Given the description of an element on the screen output the (x, y) to click on. 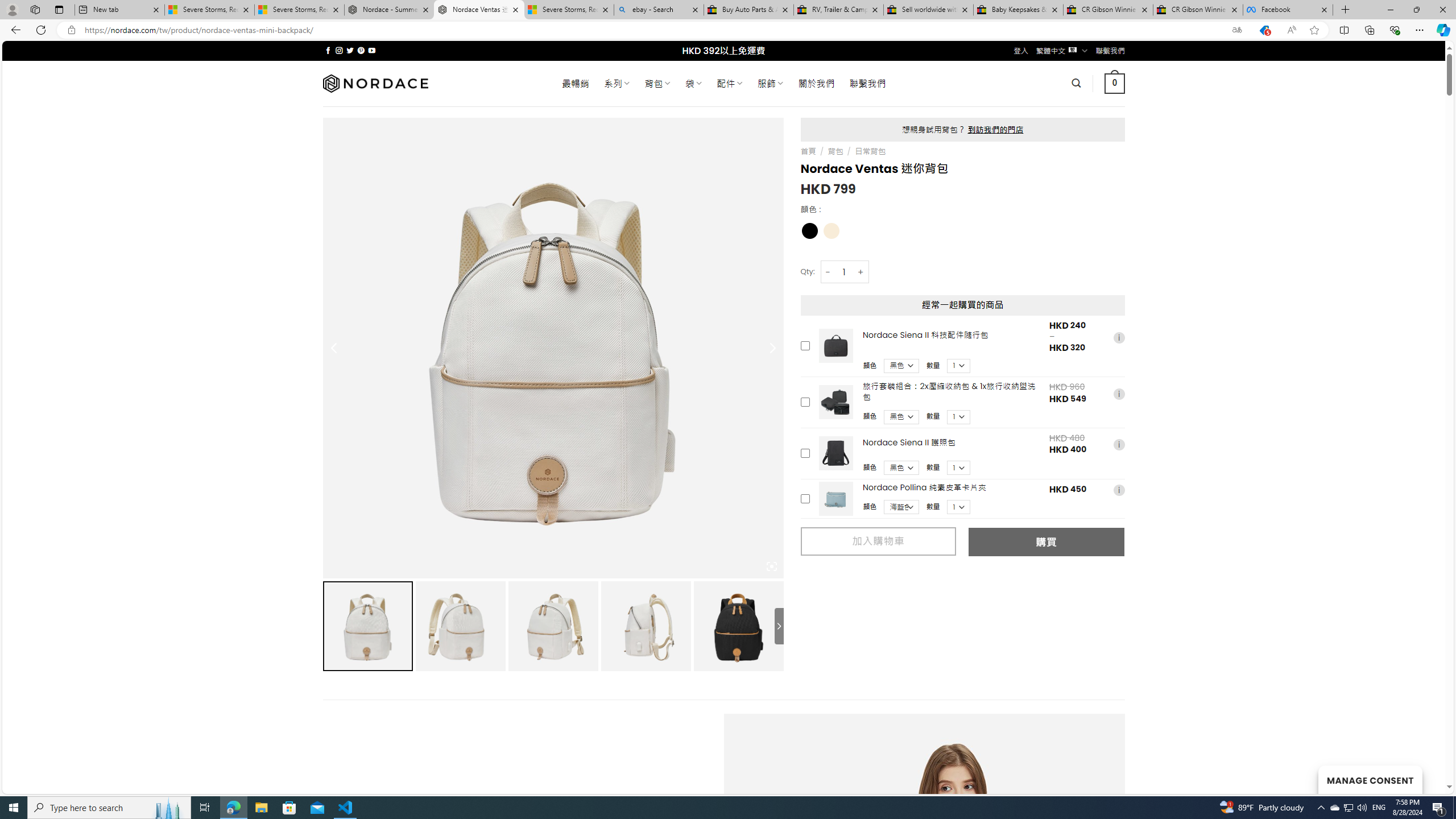
- (827, 272)
This site has coupons! Shopping in Microsoft Edge, 5 (1263, 29)
Follow on Instagram (338, 50)
  0   (1115, 83)
